Given the description of an element on the screen output the (x, y) to click on. 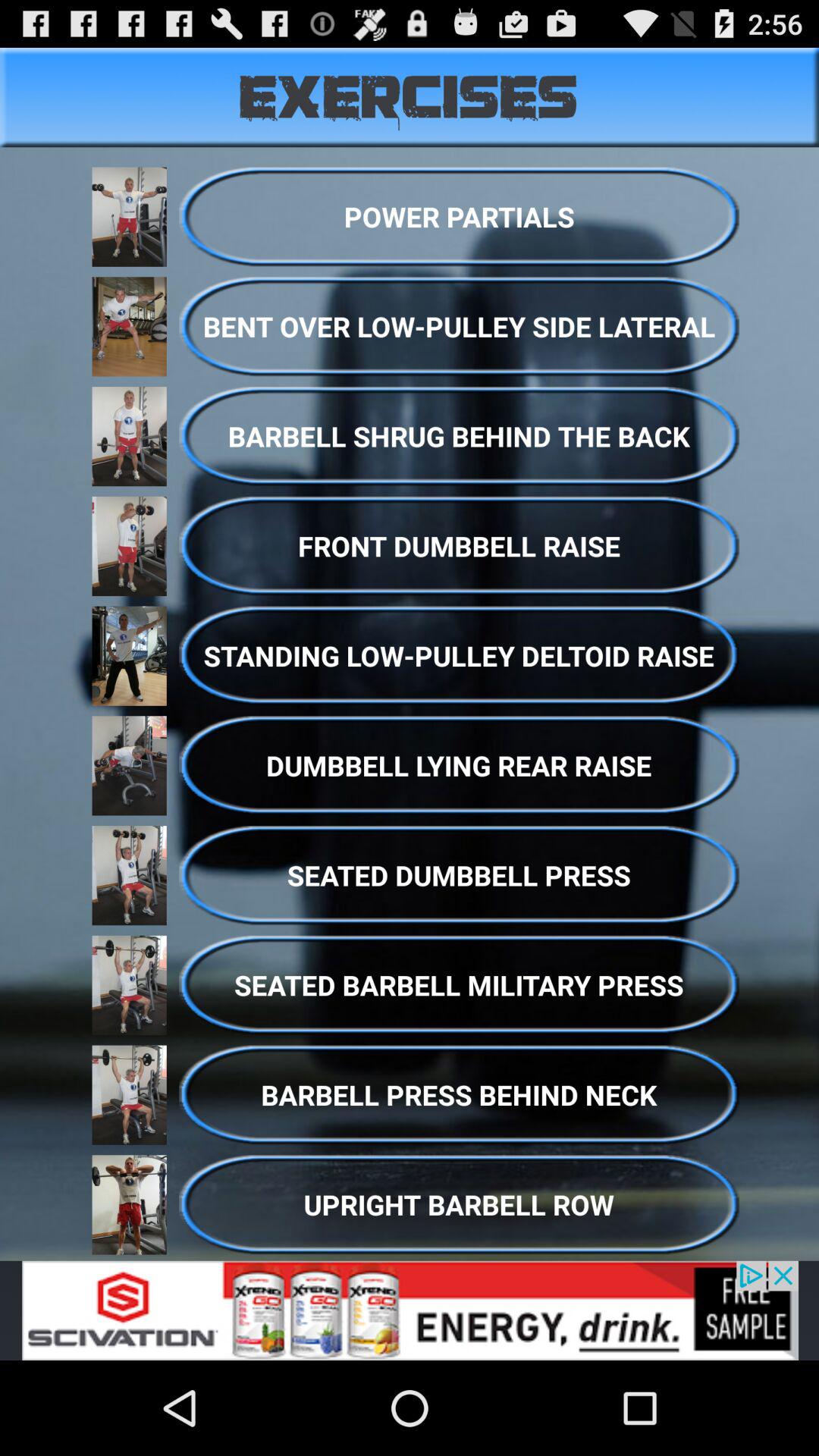
select the third option from the down (459, 985)
select the image beside seated dumbbell press (129, 874)
select the picture left to the bent over lowpulley side lateral (129, 326)
click on the text in the bottom below barbell press behind neck (459, 1204)
select dumbbeel lying rear raise option above seated dumbbell press on the page (459, 765)
